Given the description of an element on the screen output the (x, y) to click on. 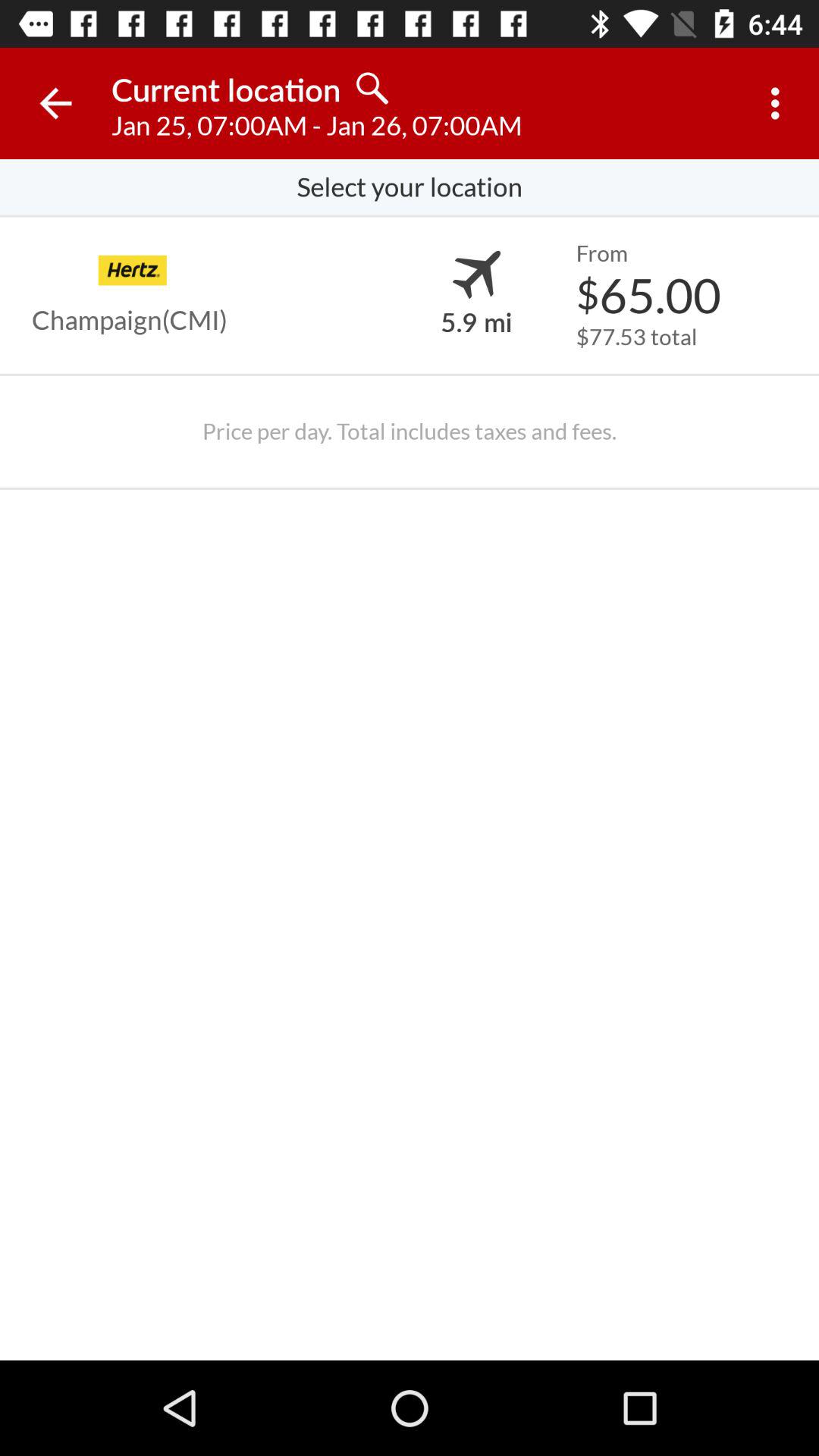
scroll to the champaign(cmi) (129, 319)
